Given the description of an element on the screen output the (x, y) to click on. 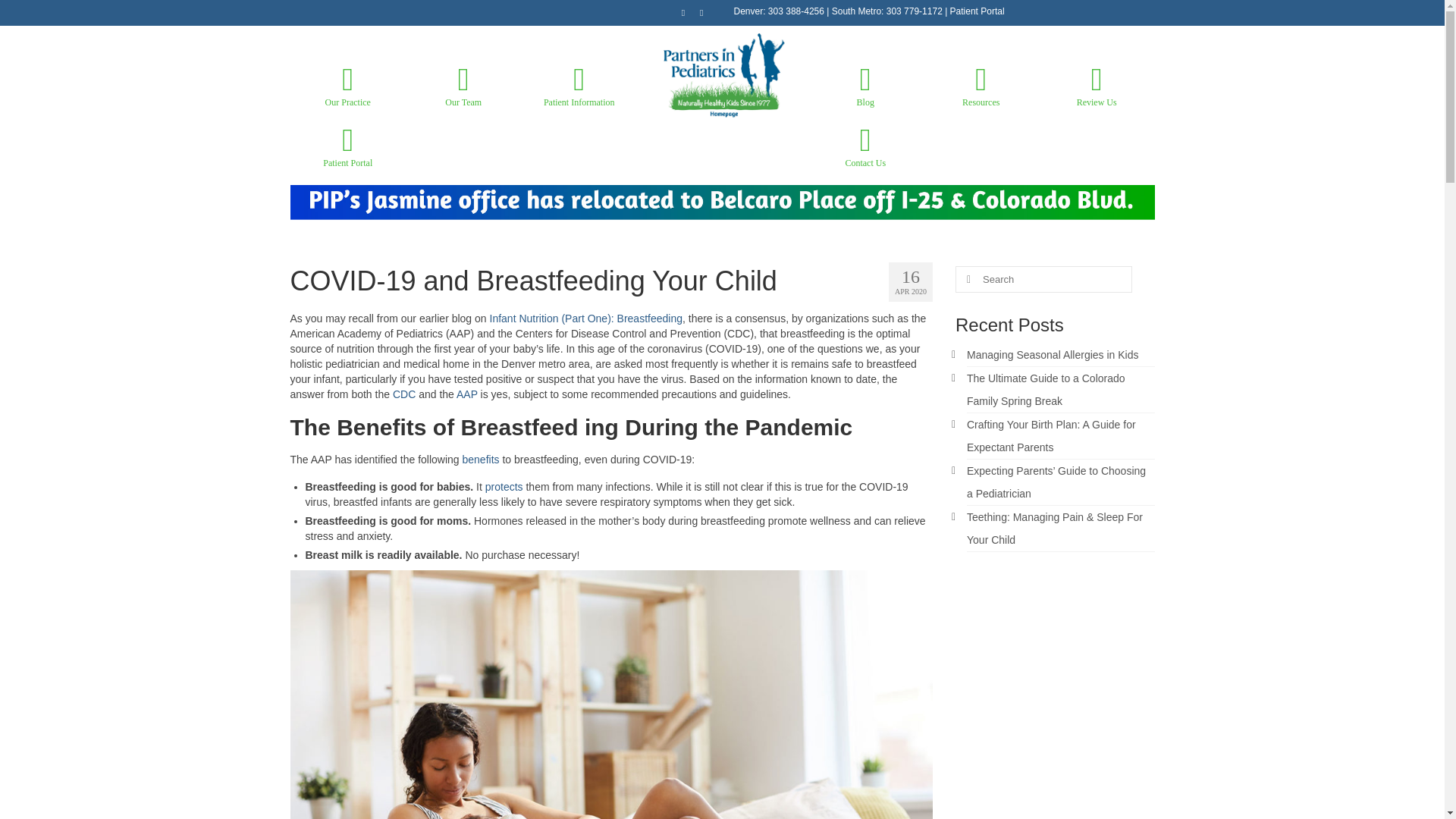
Our Team (463, 86)
Review Us (1096, 86)
Partners in Pediatrics (723, 75)
Our Practice (346, 86)
Patient Information (578, 86)
Patient Portal (977, 10)
Resources (980, 86)
Contact Us (865, 147)
Patient Portal (346, 147)
Blog (865, 86)
